Given the description of an element on the screen output the (x, y) to click on. 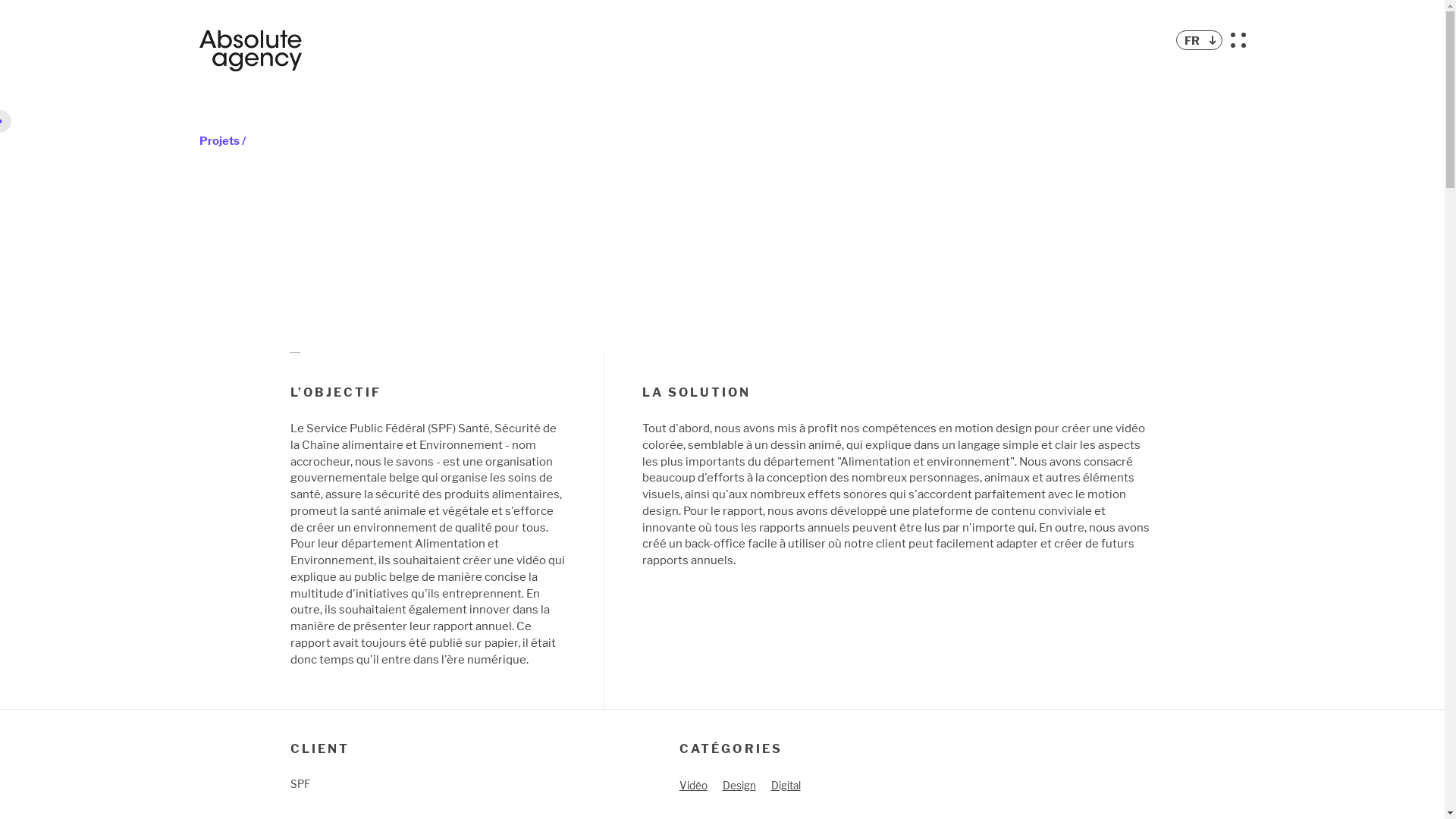
Projets / Element type: text (230, 140)
Design Element type: text (738, 785)
Submit Element type: text (25, 9)
Digital Element type: text (785, 785)
